Given the description of an element on the screen output the (x, y) to click on. 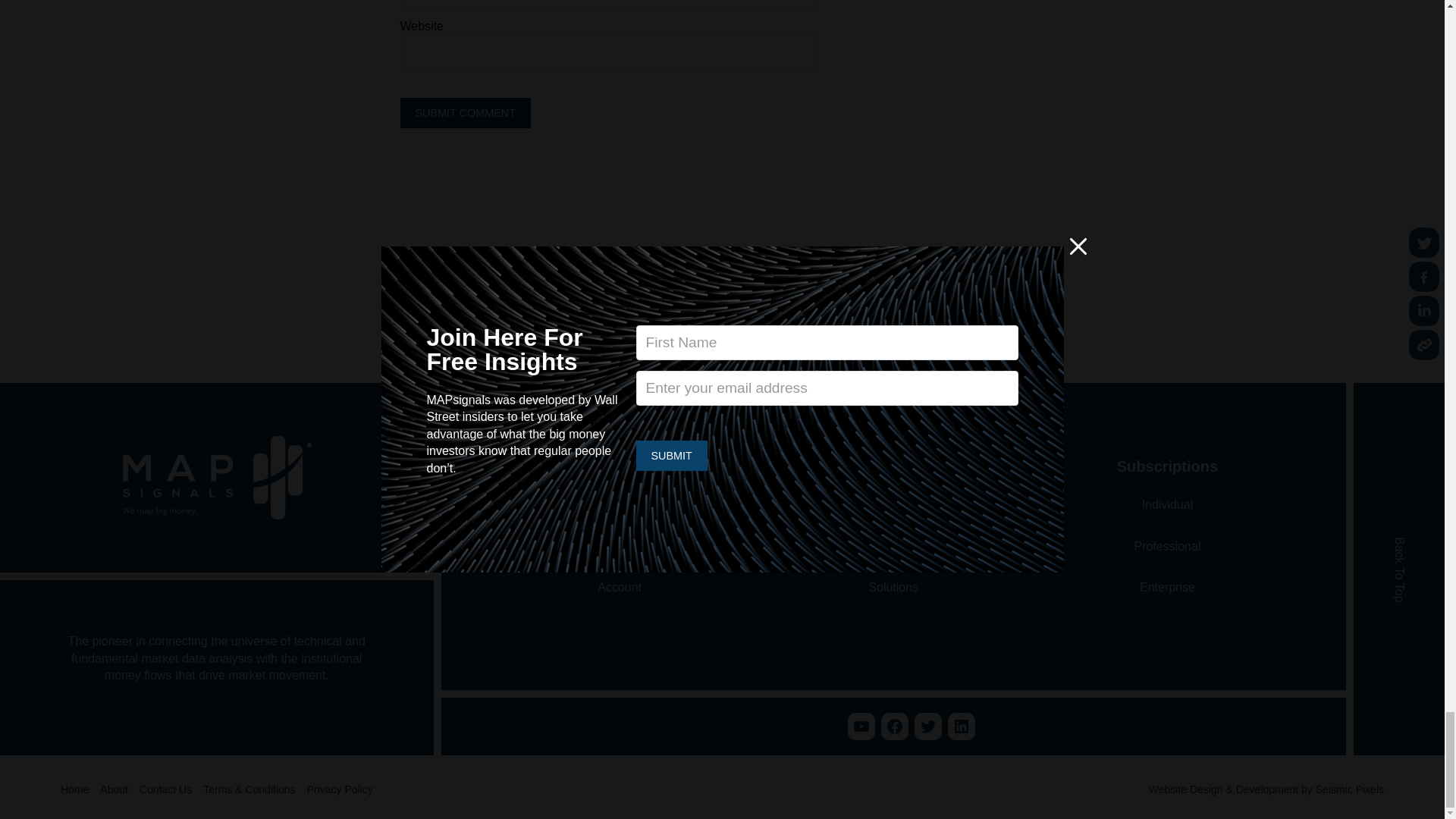
Submit Comment (465, 112)
About MAPsignals (893, 504)
Account (619, 587)
Subscriptions (619, 504)
Submit Comment (465, 112)
View All (734, 260)
Login (619, 546)
